Given the description of an element on the screen output the (x, y) to click on. 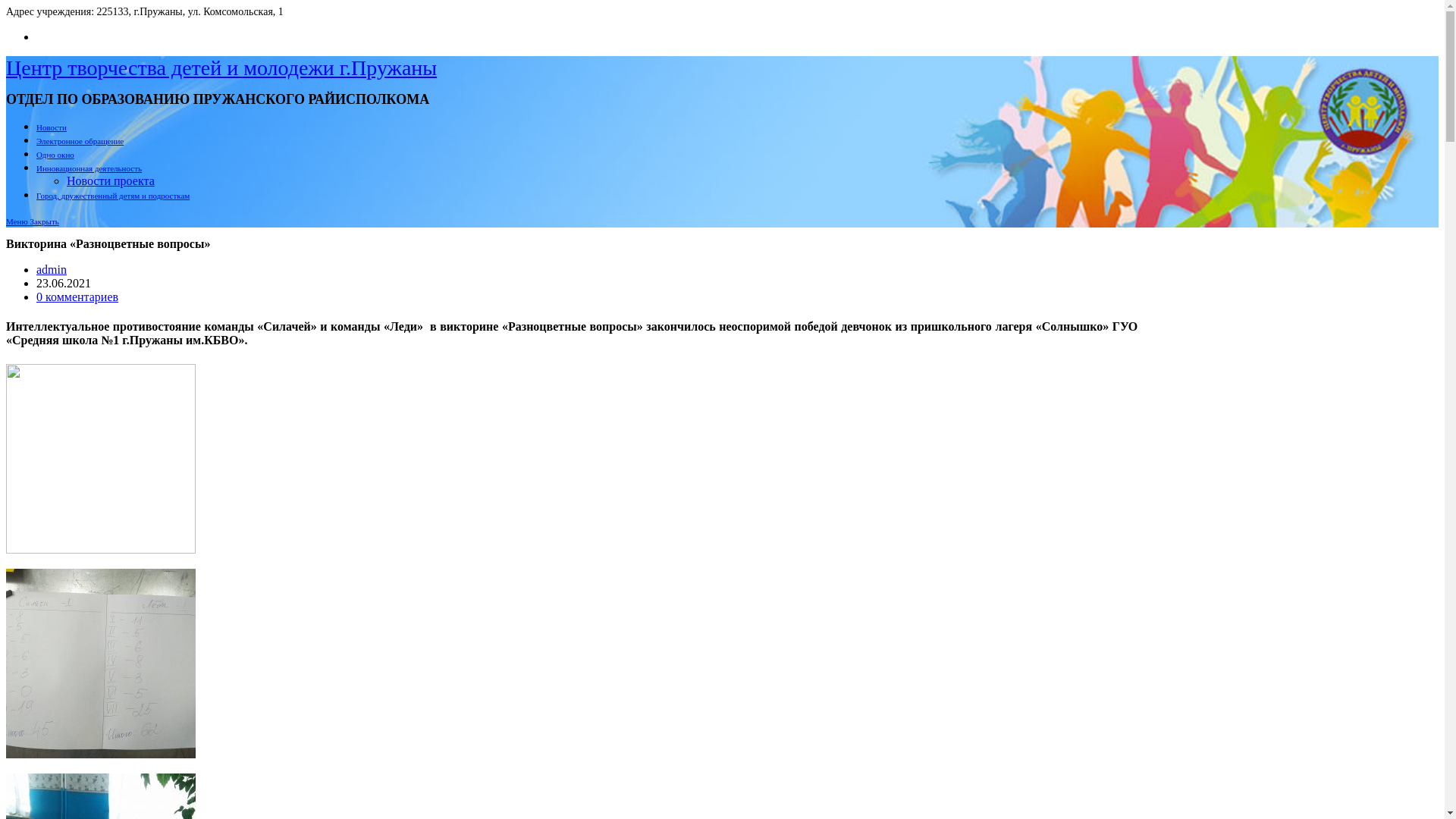
admin Element type: text (51, 269)
